Given the description of an element on the screen output the (x, y) to click on. 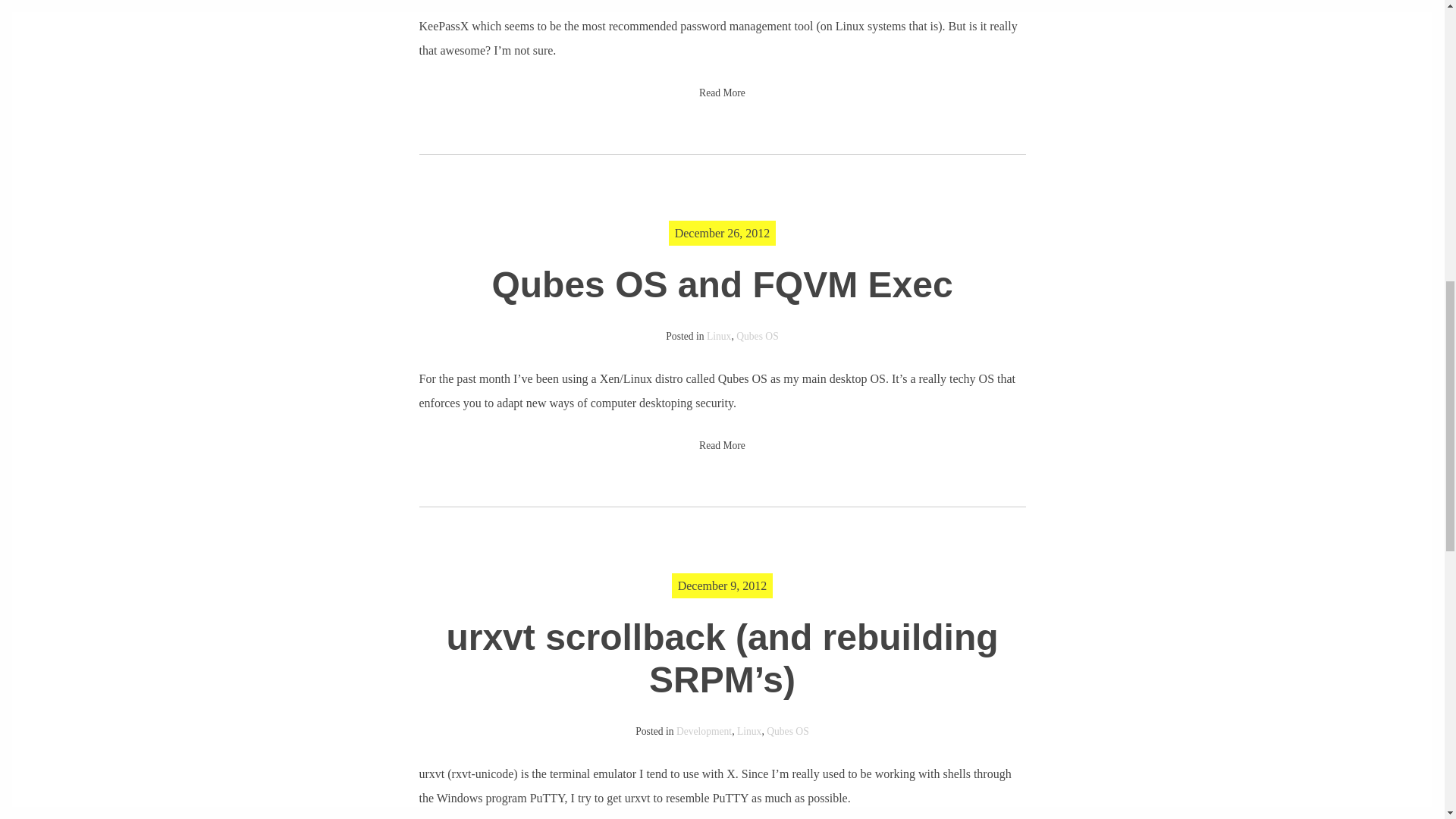
Qubes OS (788, 731)
Qubes OS and FQVM Exec (722, 284)
Linux (718, 336)
Read More (721, 92)
Read More (721, 445)
Linux (748, 731)
December 26, 2012 (722, 232)
Development (704, 731)
Qubes OS (757, 336)
December 9, 2012 (722, 585)
